Given the description of an element on the screen output the (x, y) to click on. 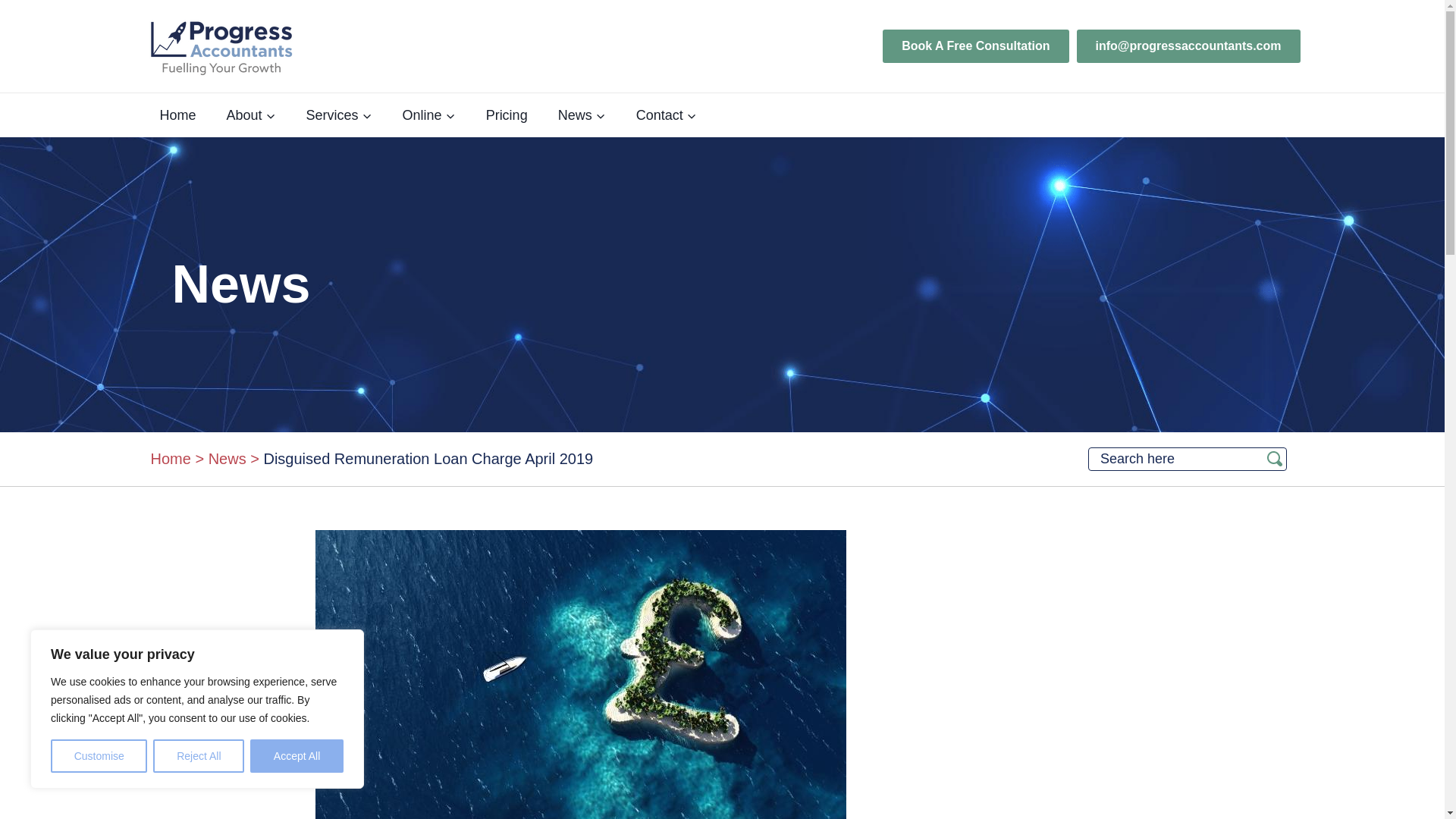
Reject All (198, 756)
Contact (666, 115)
Book A Free Consultation (975, 45)
Home (177, 115)
About (251, 115)
Customise (98, 756)
Online (428, 115)
Accept All (296, 756)
Services (339, 115)
Pricing (506, 115)
